Given the description of an element on the screen output the (x, y) to click on. 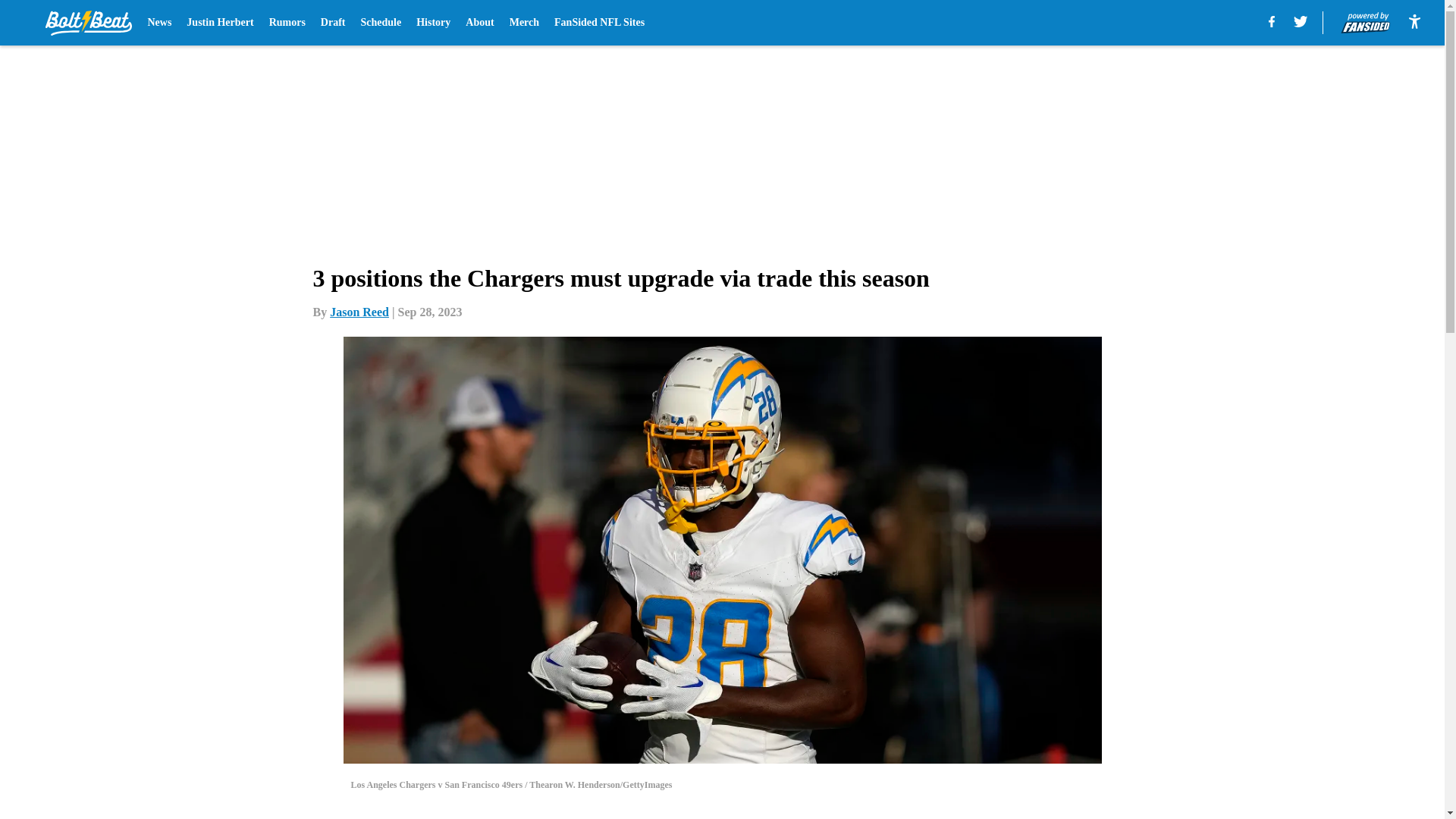
History (432, 22)
Schedule (381, 22)
Draft (333, 22)
Justin Herbert (219, 22)
Merch (523, 22)
News (159, 22)
About (479, 22)
FanSided NFL Sites (599, 22)
Rumors (287, 22)
Jason Reed (359, 311)
